Given the description of an element on the screen output the (x, y) to click on. 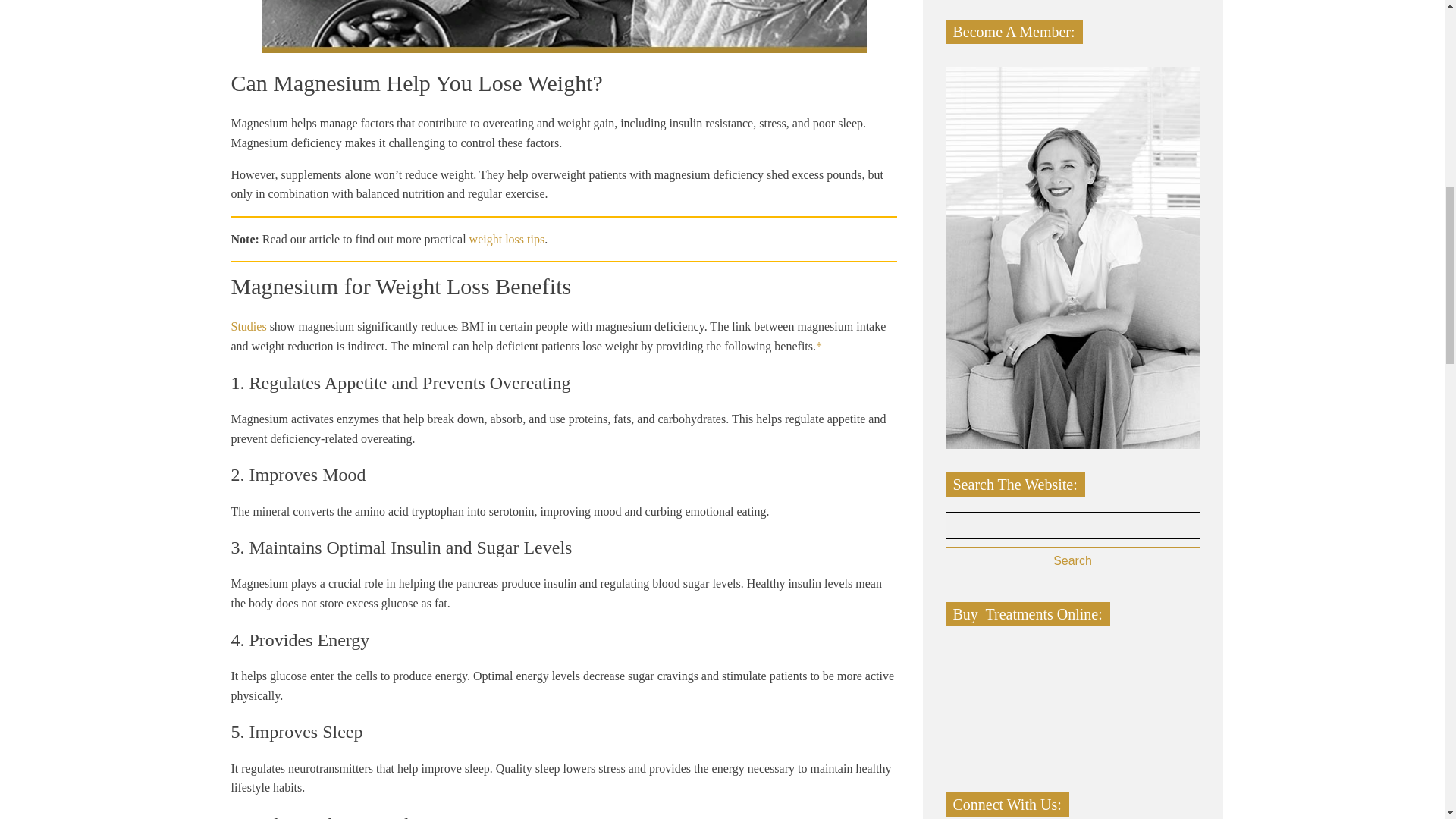
Search (1071, 561)
Studies (248, 326)
weight loss tips (506, 238)
Search (1071, 561)
